Given the description of an element on the screen output the (x, y) to click on. 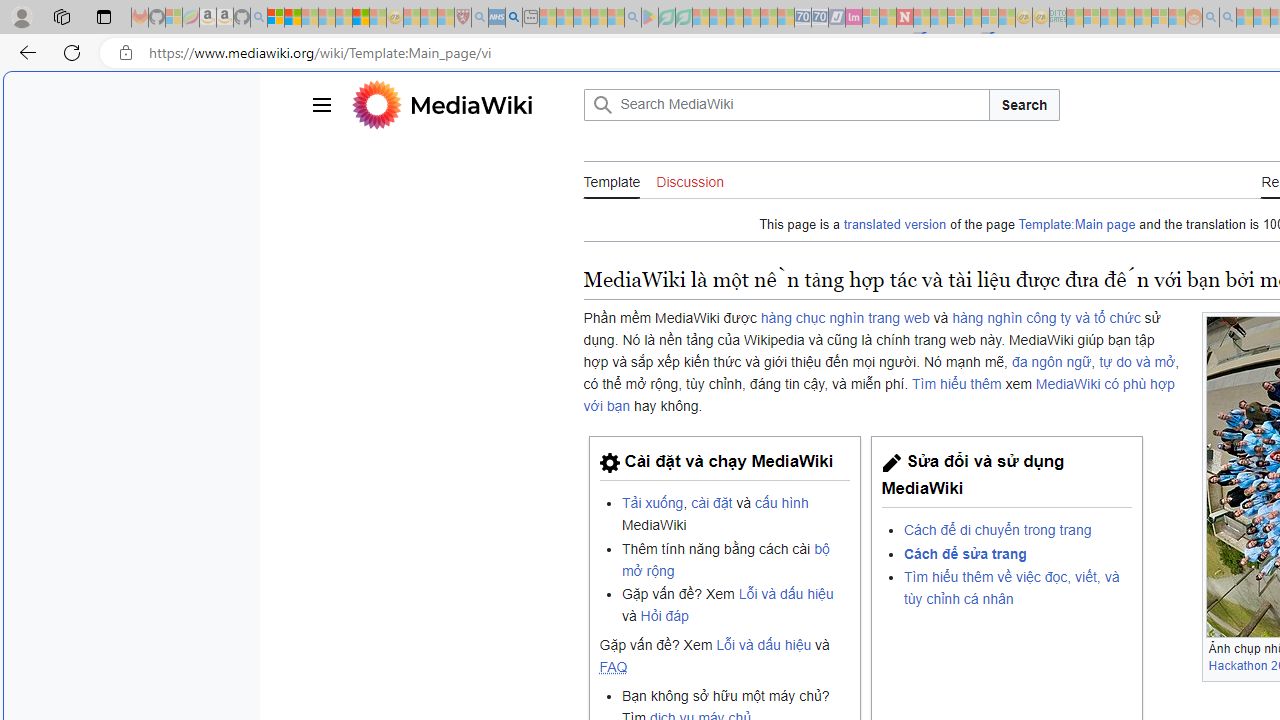
utah sues federal government - Search (513, 17)
FAQ (613, 667)
